Given the description of an element on the screen output the (x, y) to click on. 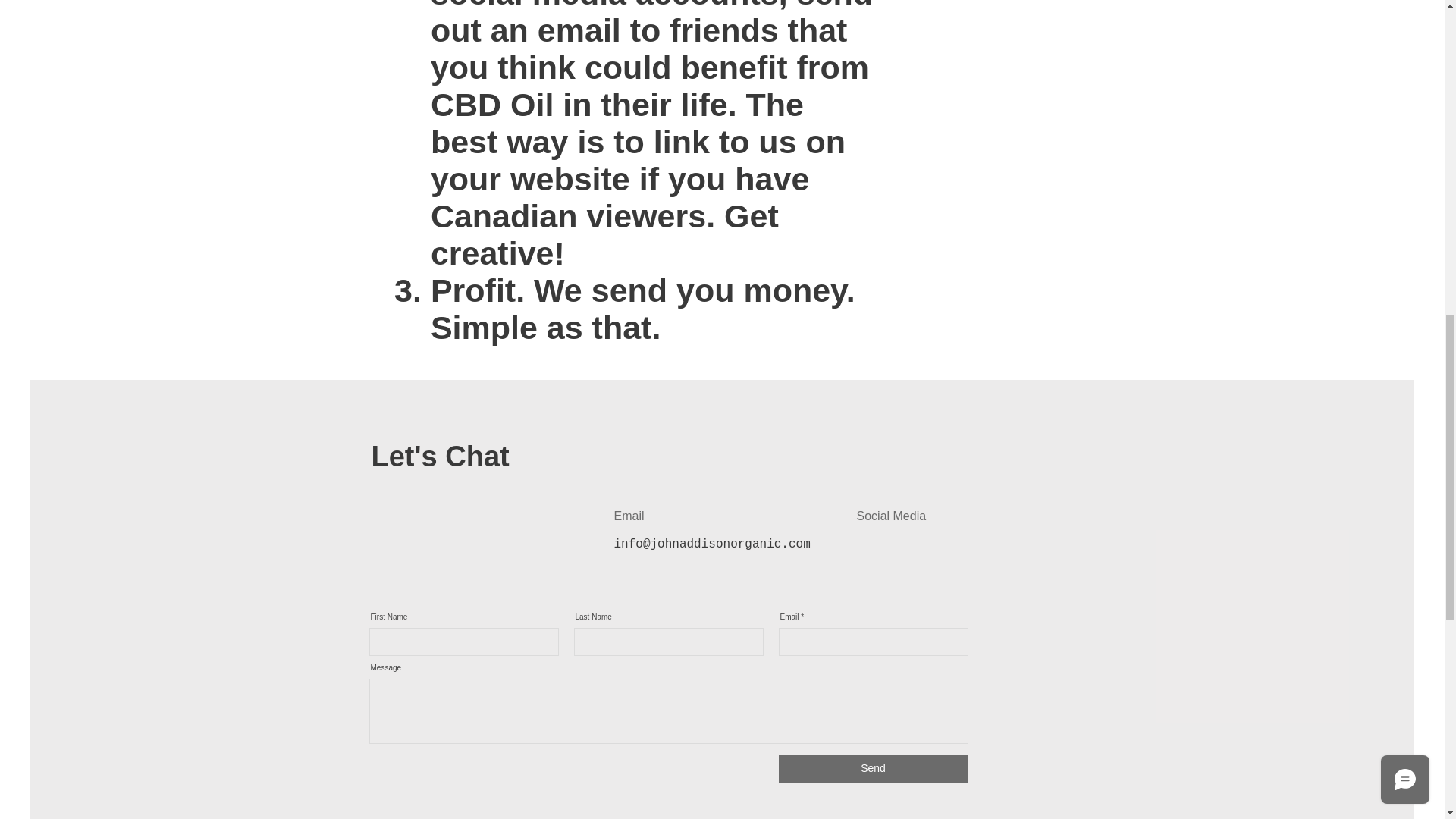
Send (872, 768)
